Given the description of an element on the screen output the (x, y) to click on. 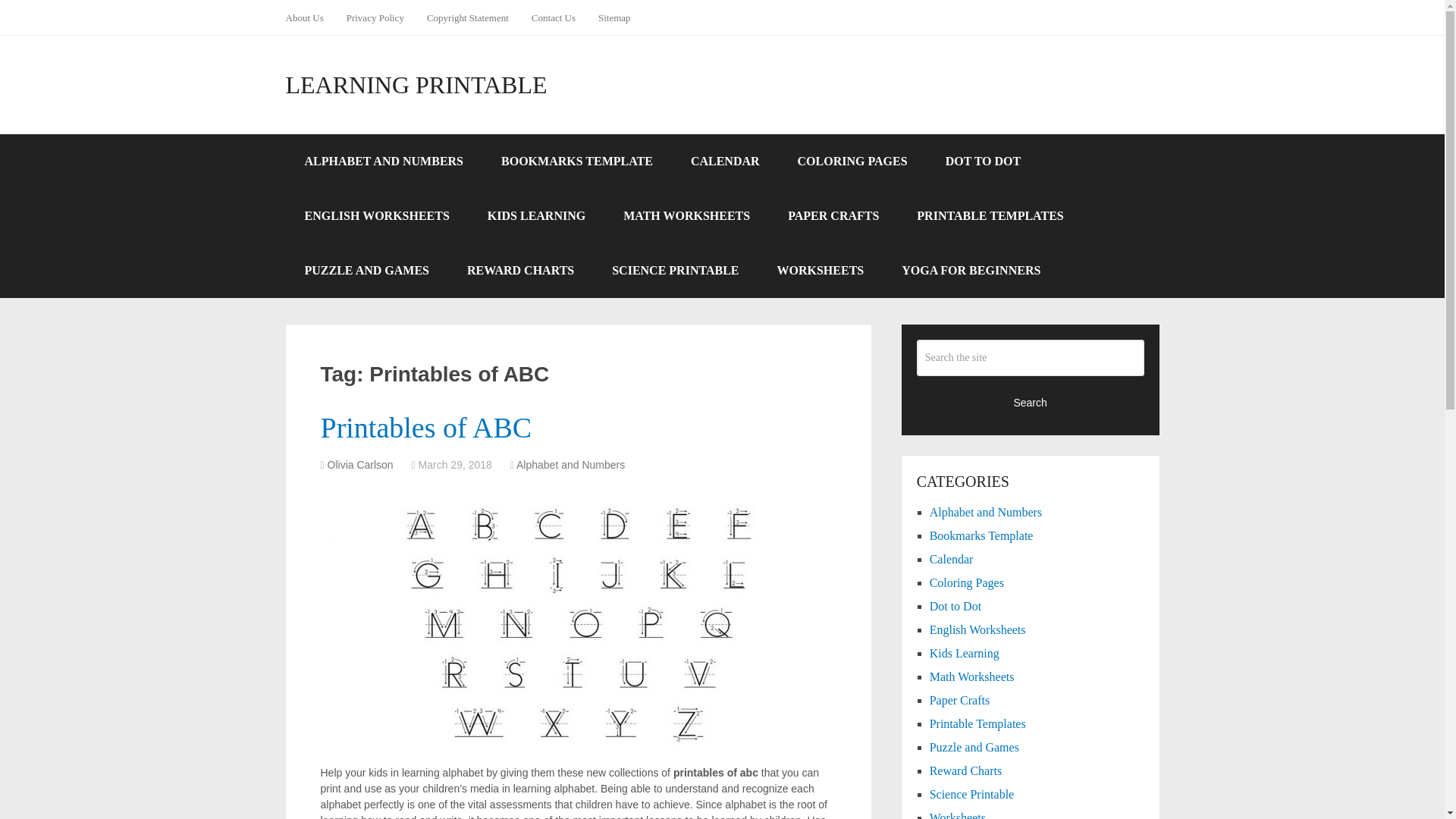
PUZZLE AND GAMES (365, 270)
Alphabet and Numbers (986, 512)
English Worksheets (978, 629)
Olivia Carlson (360, 464)
REWARD CHARTS (520, 270)
WORKSHEETS (820, 270)
DOT TO DOT (983, 161)
Dot to Dot (955, 605)
Sitemap (614, 17)
YOGA FOR BEGINNERS (970, 270)
